Given the description of an element on the screen output the (x, y) to click on. 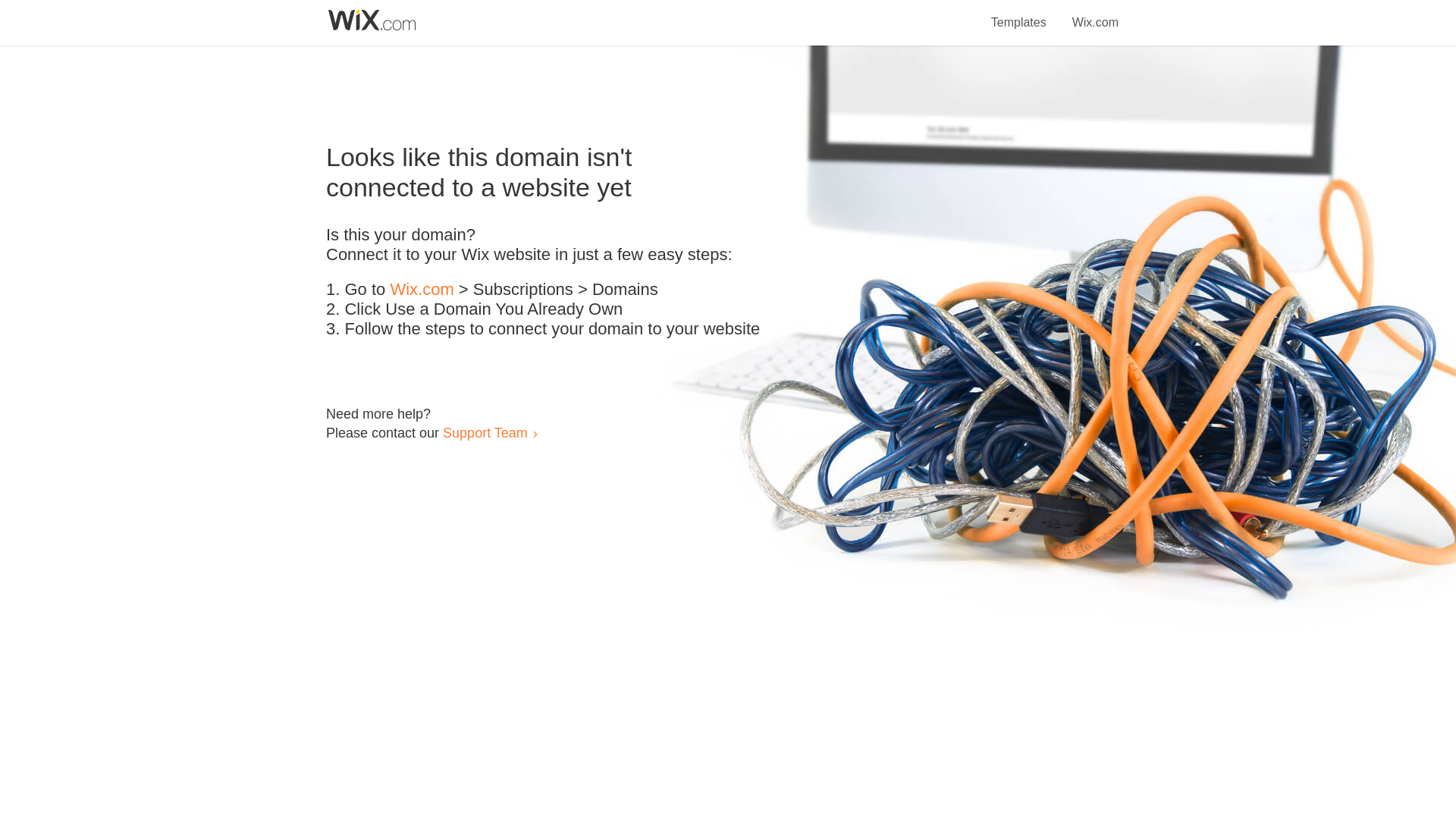
Wix.com (421, 289)
Wix.com (1095, 14)
Templates (1018, 14)
Support Team (484, 432)
